Given the description of an element on the screen output the (x, y) to click on. 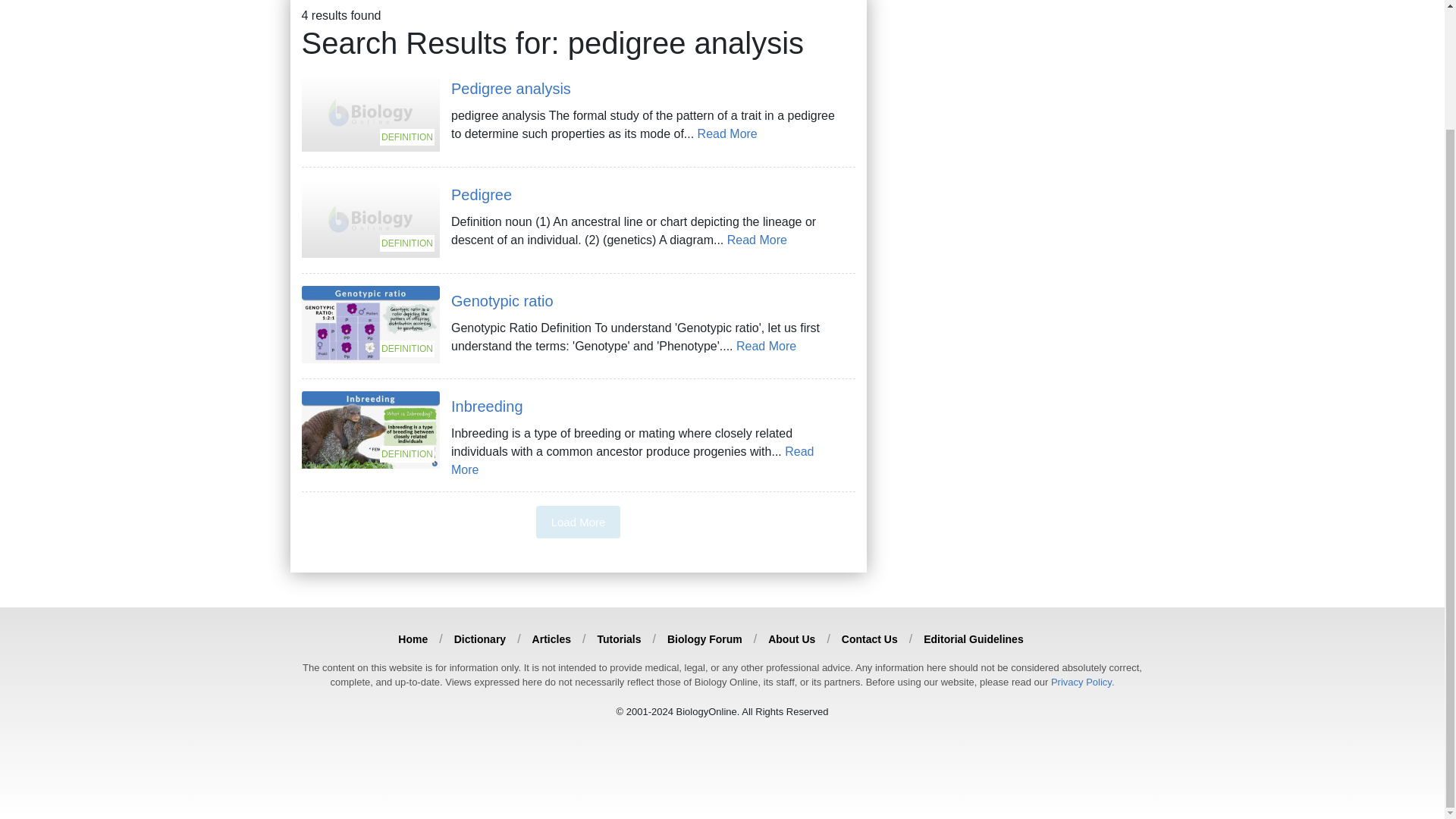
Biology Forum (704, 639)
Privacy Policy. (1083, 681)
DEFINITION (371, 111)
Contact Us (869, 639)
DEFINITION (371, 216)
Load More (578, 522)
Tutorials (618, 639)
Articles (551, 639)
Inbreeding (486, 406)
Editorial Guidelines (973, 639)
DEFINITION (371, 428)
Home (412, 639)
Read More (756, 239)
Dictionary (479, 639)
About Us (791, 639)
